Given the description of an element on the screen output the (x, y) to click on. 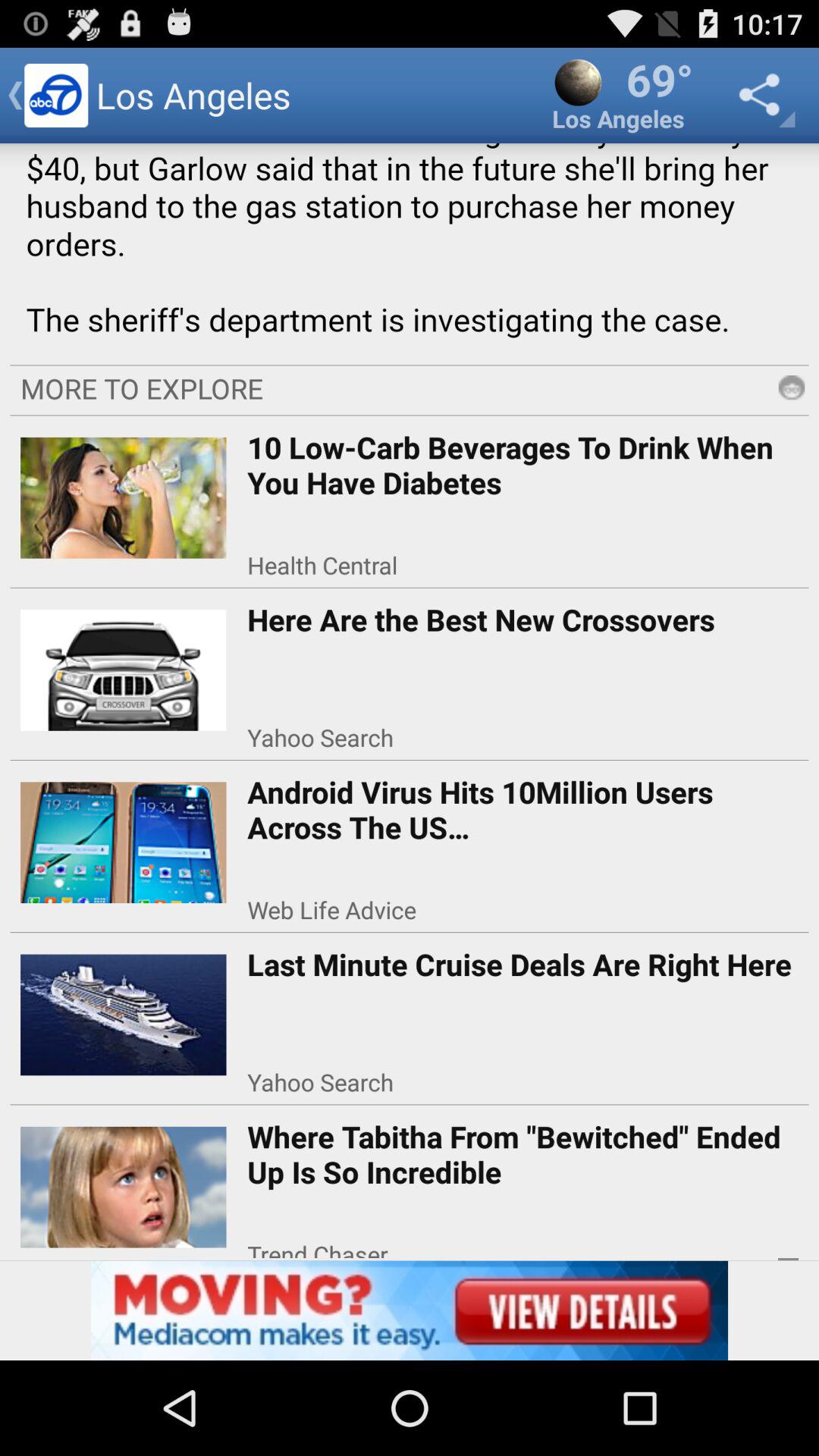
go to add page (409, 1310)
